Given the description of an element on the screen output the (x, y) to click on. 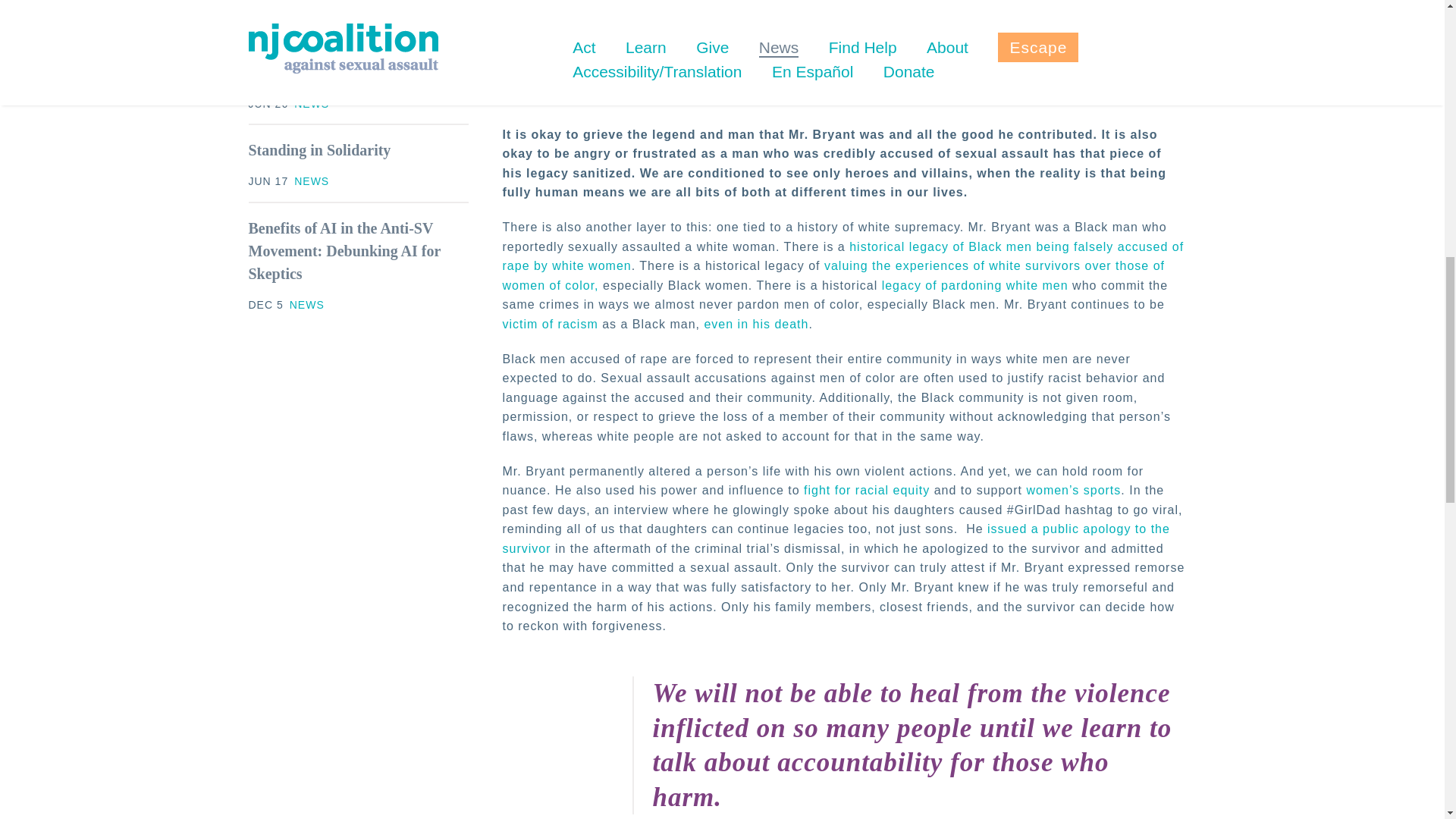
even in his death (755, 323)
victim of racism (549, 323)
fight for racial equity (866, 490)
issued a public apology to the survivor (835, 538)
legacy of pardoning white men (975, 285)
